Given the description of an element on the screen output the (x, y) to click on. 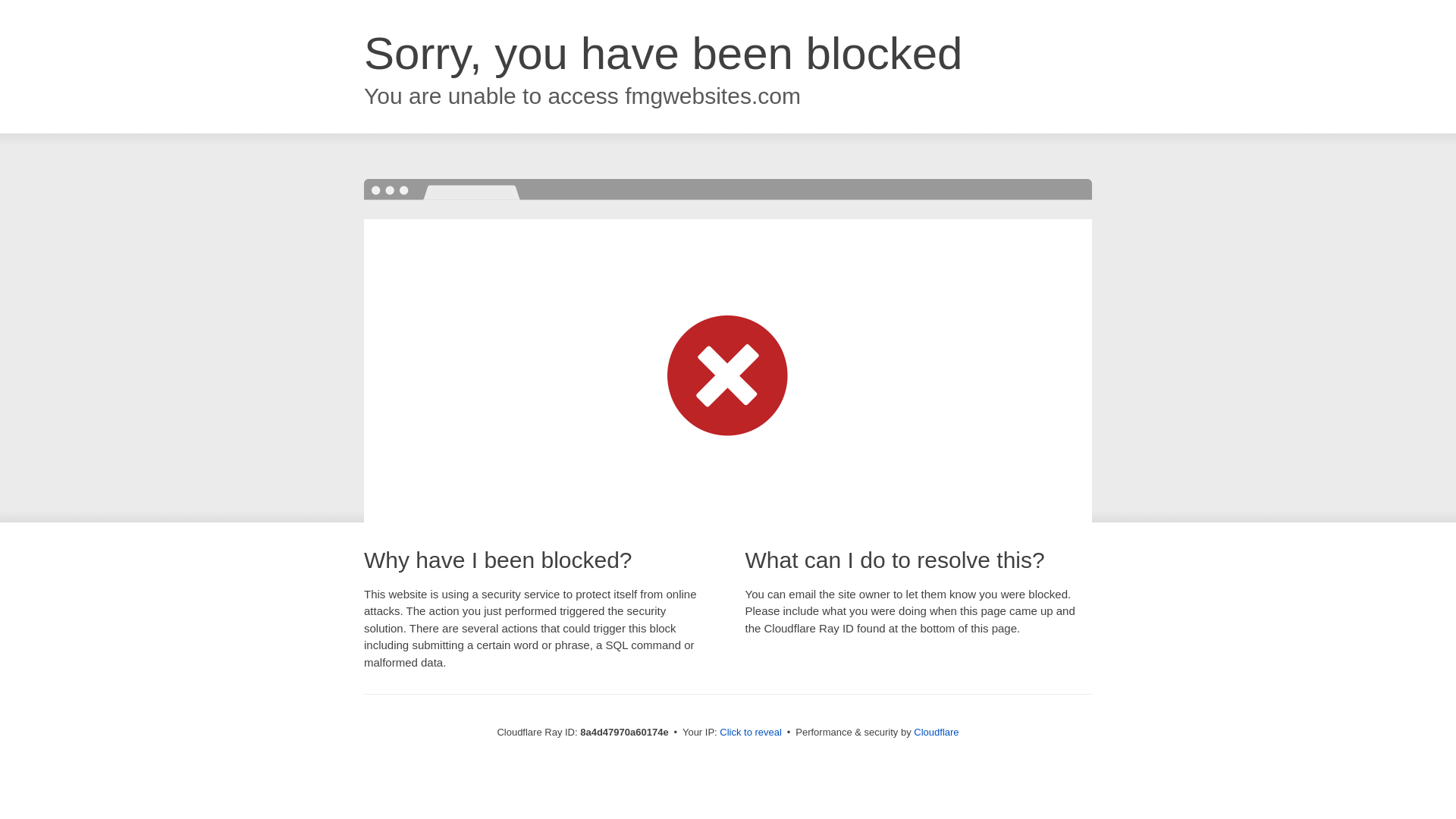
Cloudflare (936, 731)
Click to reveal (750, 732)
